Given the description of an element on the screen output the (x, y) to click on. 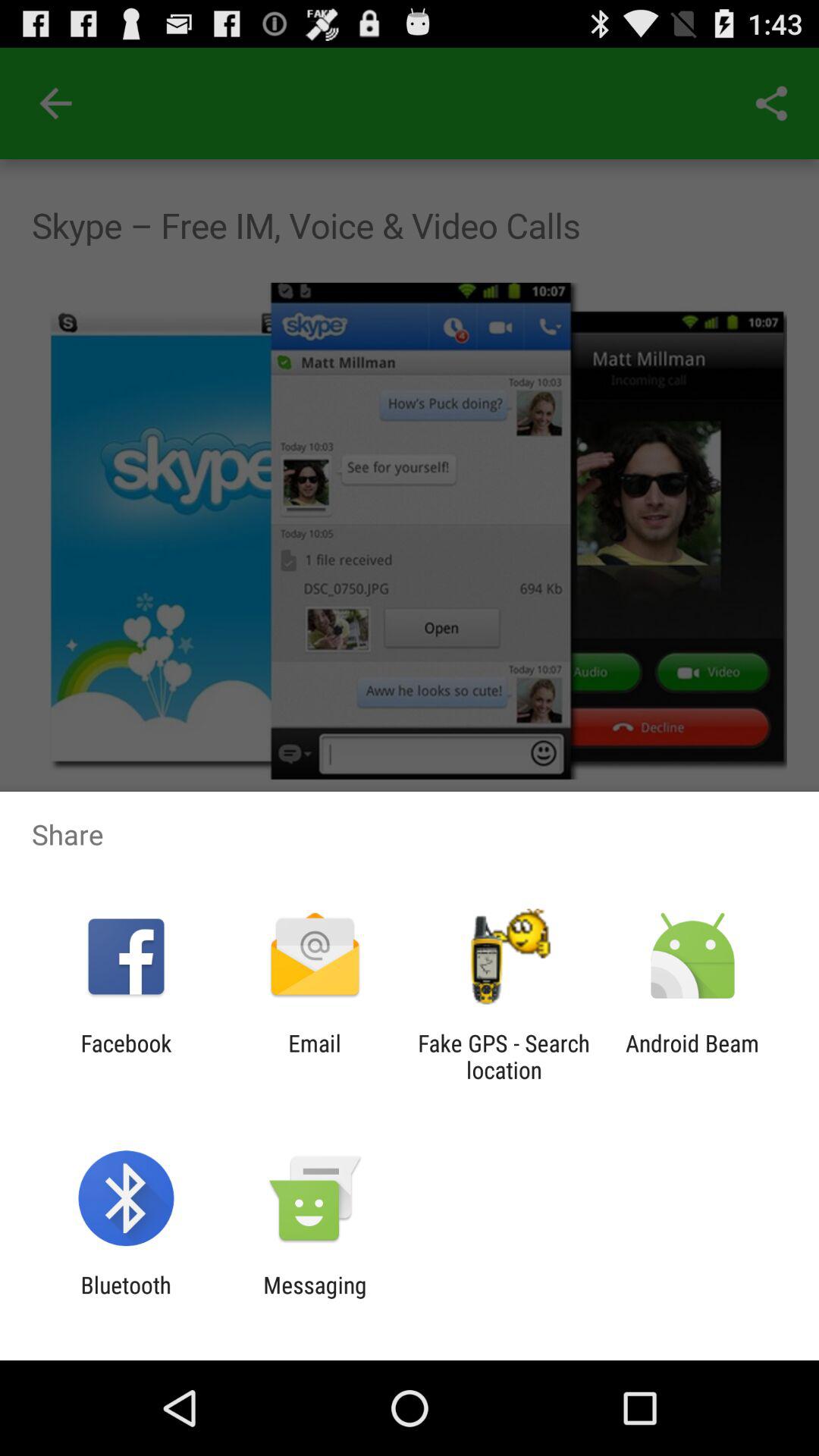
open icon next to fake gps search item (692, 1056)
